Given the description of an element on the screen output the (x, y) to click on. 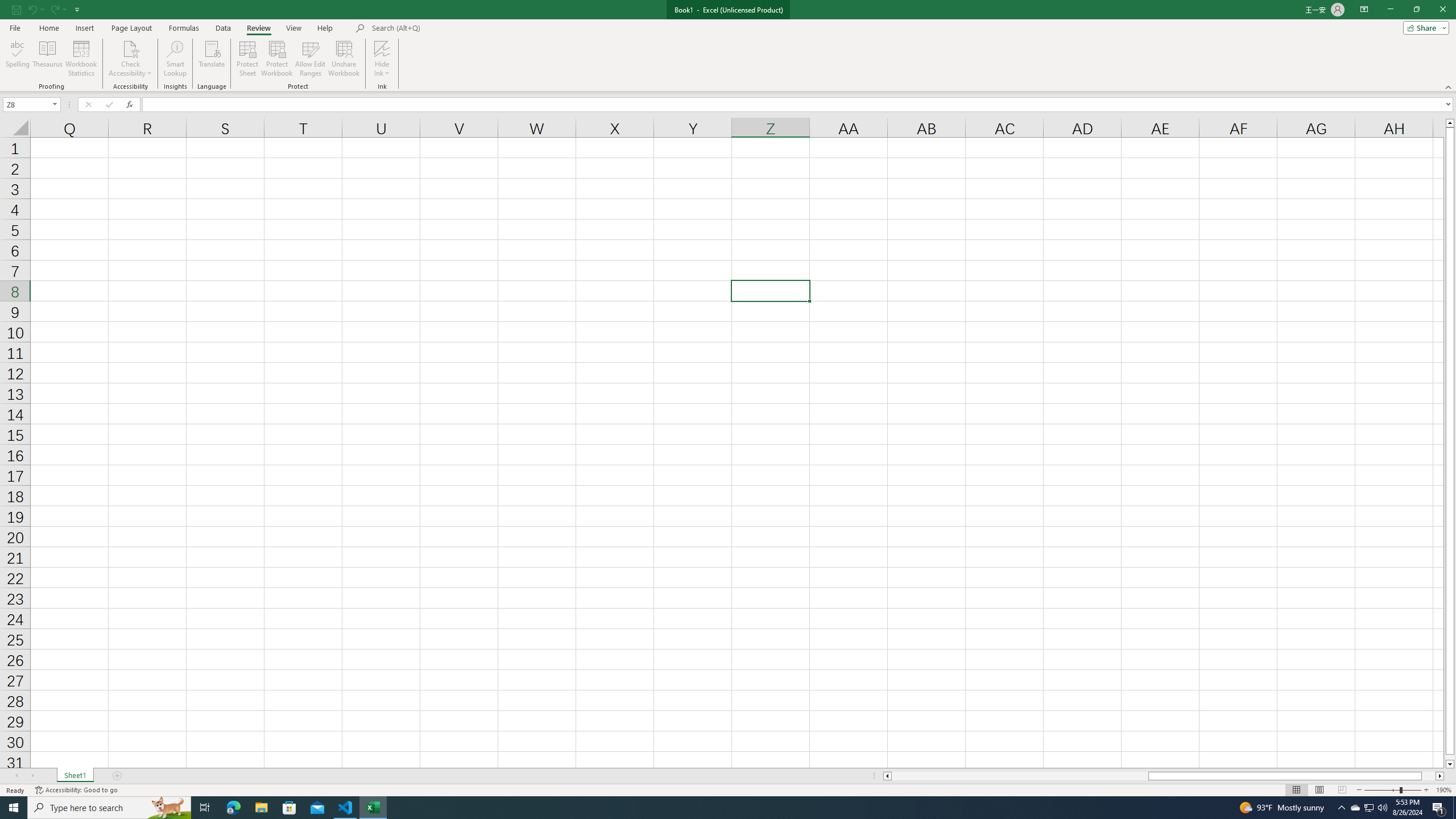
Spelling... (17, 58)
Unshare Workbook (344, 58)
Thesaurus... (47, 58)
Microsoft search (450, 28)
